Given the description of an element on the screen output the (x, y) to click on. 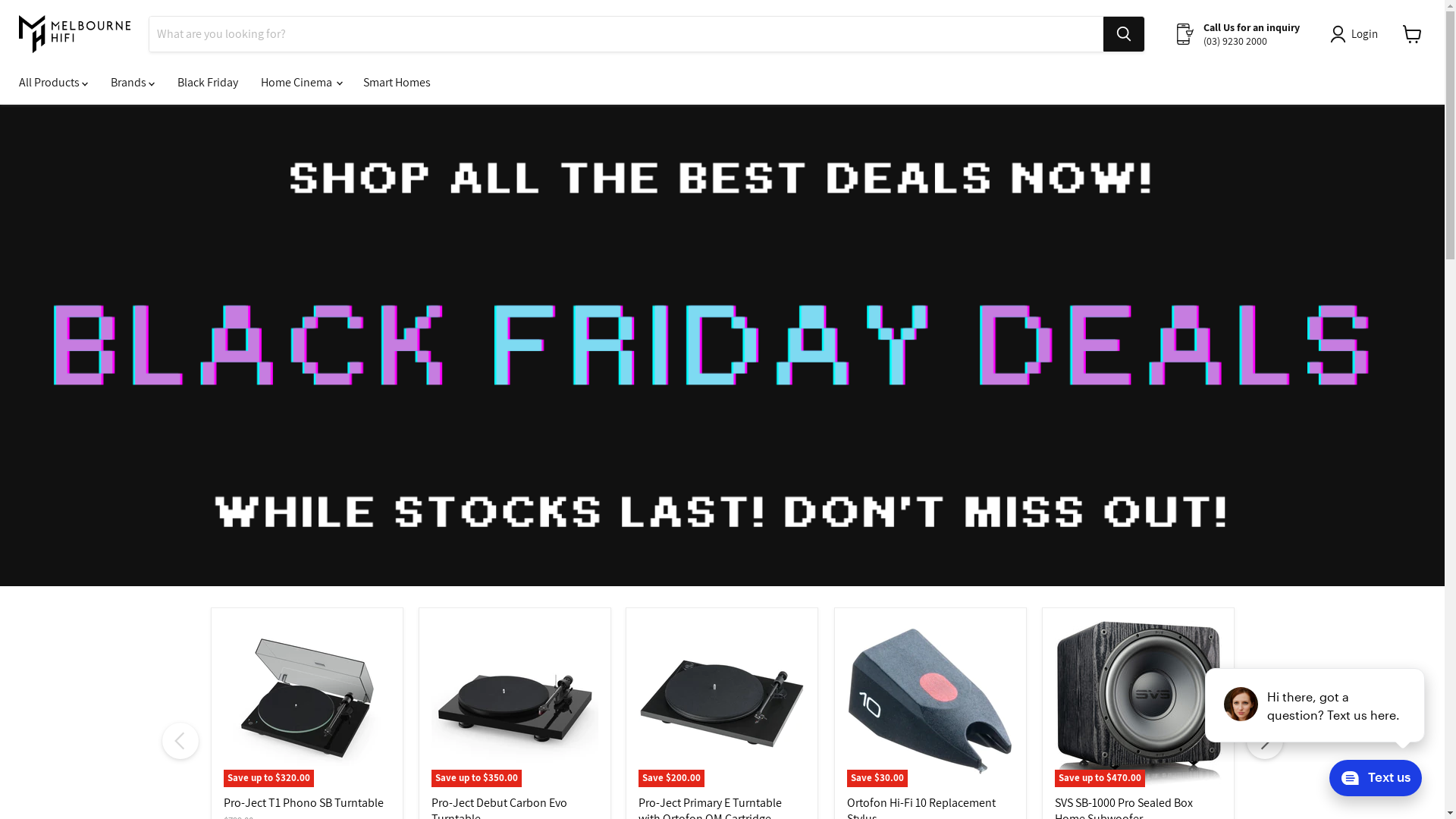
Save $30.00 Element type: text (929, 703)
podium webchat widget prompt Element type: hover (1315, 705)
Login Element type: text (1356, 34)
Pro-Ject T1 Phono SB Turntable Element type: text (302, 802)
View cart Element type: text (1412, 33)
Save up to $320.00 Element type: text (305, 703)
Save $200.00 Element type: text (721, 703)
Save up to $470.00 Element type: text (1137, 703)
Black Friday Element type: text (207, 82)
Smart Homes Element type: text (396, 82)
Save up to $350.00 Element type: text (514, 703)
